Given the description of an element on the screen output the (x, y) to click on. 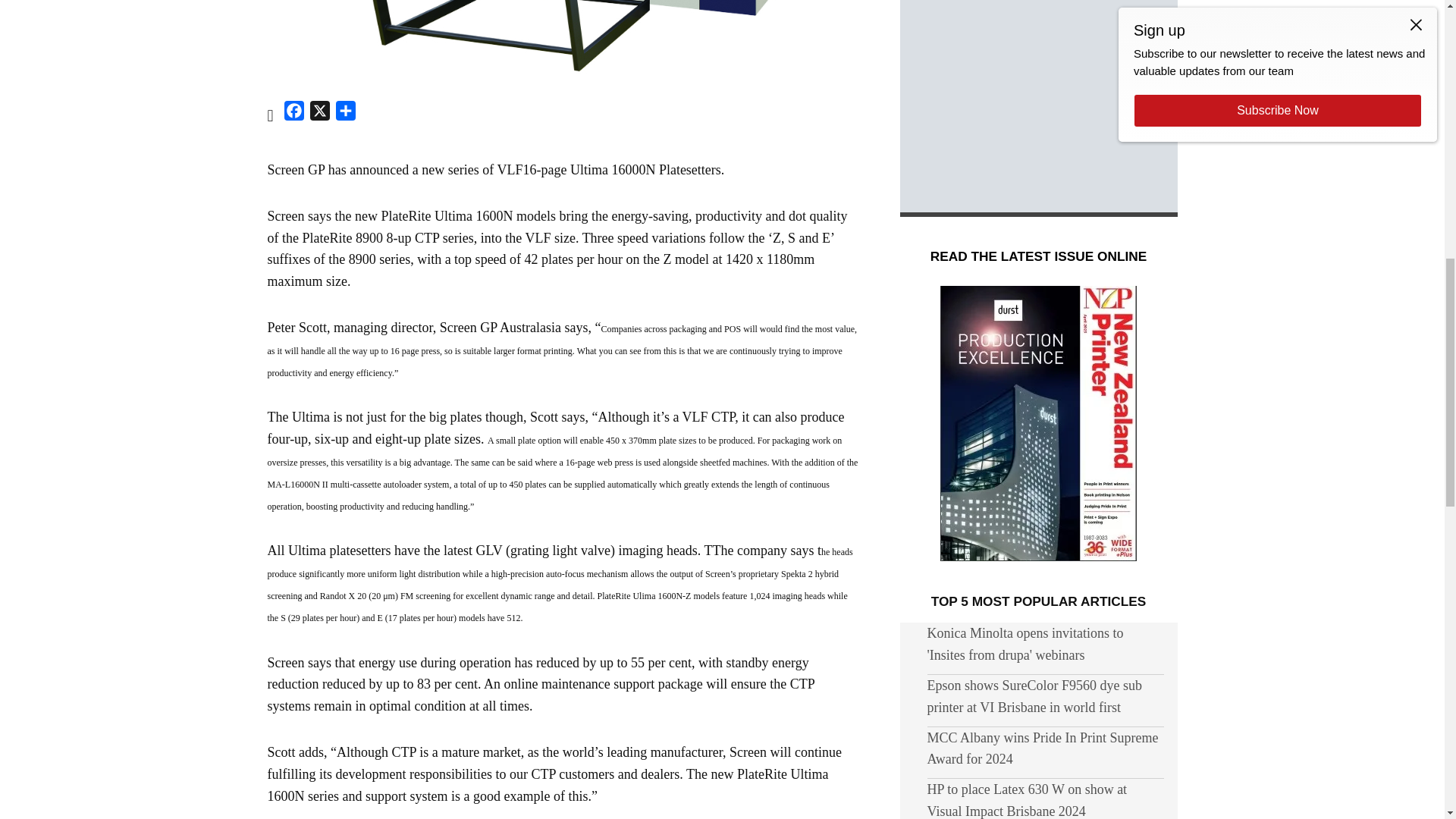
X (320, 113)
Share (345, 113)
Form 0 (1038, 100)
Facebook (294, 113)
X (320, 113)
Facebook (294, 113)
